Given the description of an element on the screen output the (x, y) to click on. 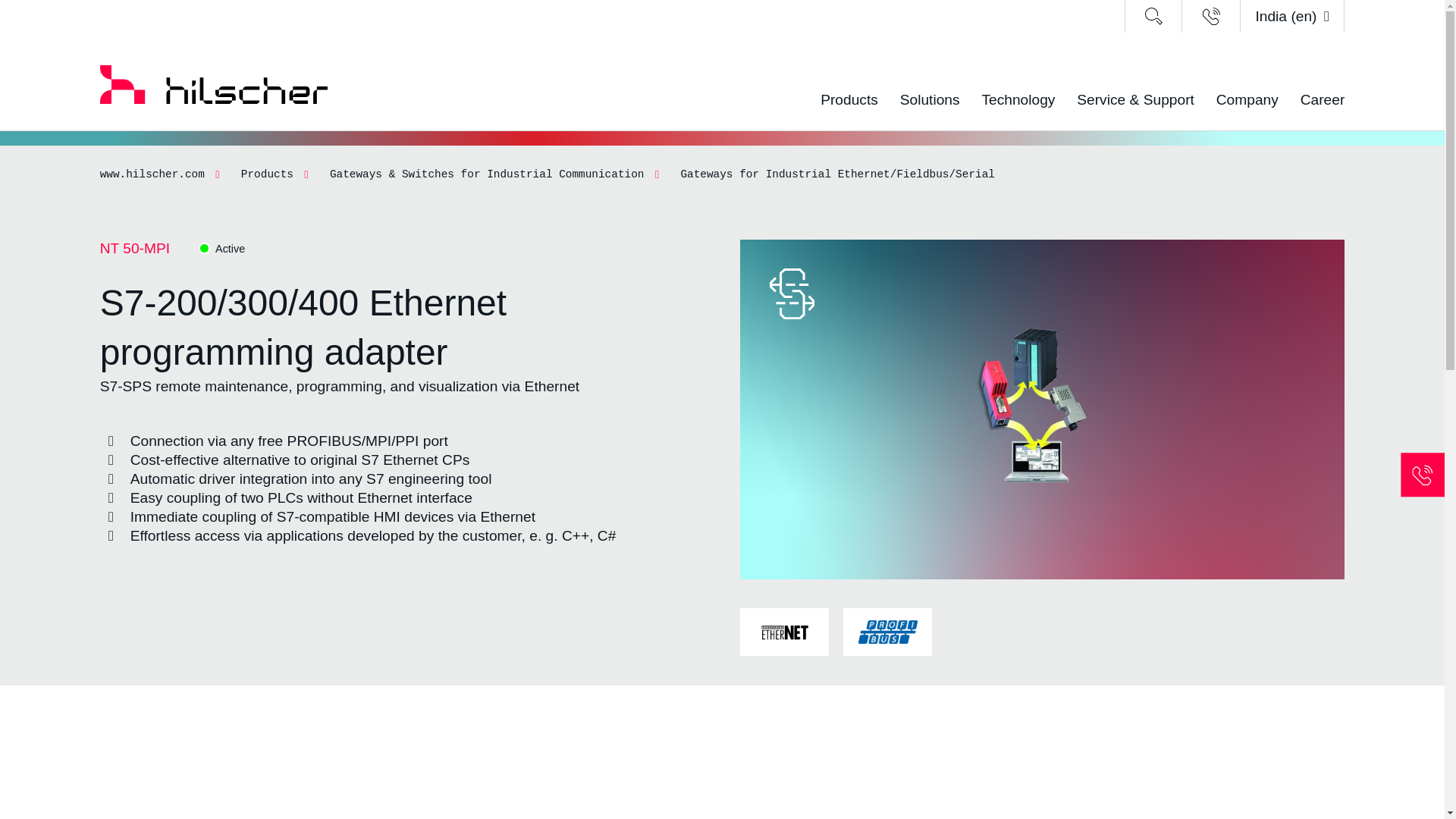
Find (1153, 16)
Contact (1211, 16)
